Given the description of an element on the screen output the (x, y) to click on. 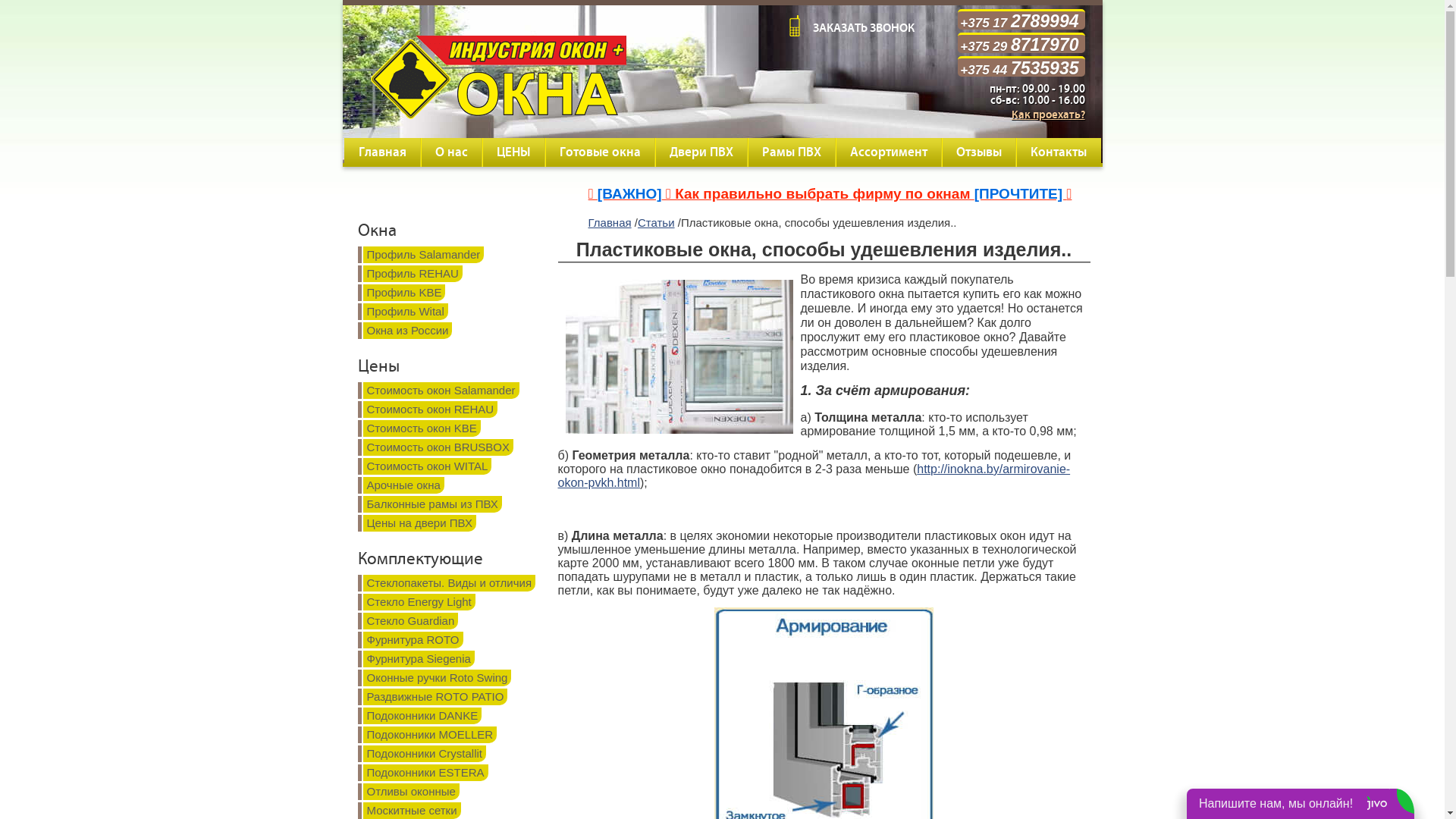
http://inokna.by/armirovanie-okon-pvkh.html Element type: text (814, 475)
